Given the description of an element on the screen output the (x, y) to click on. 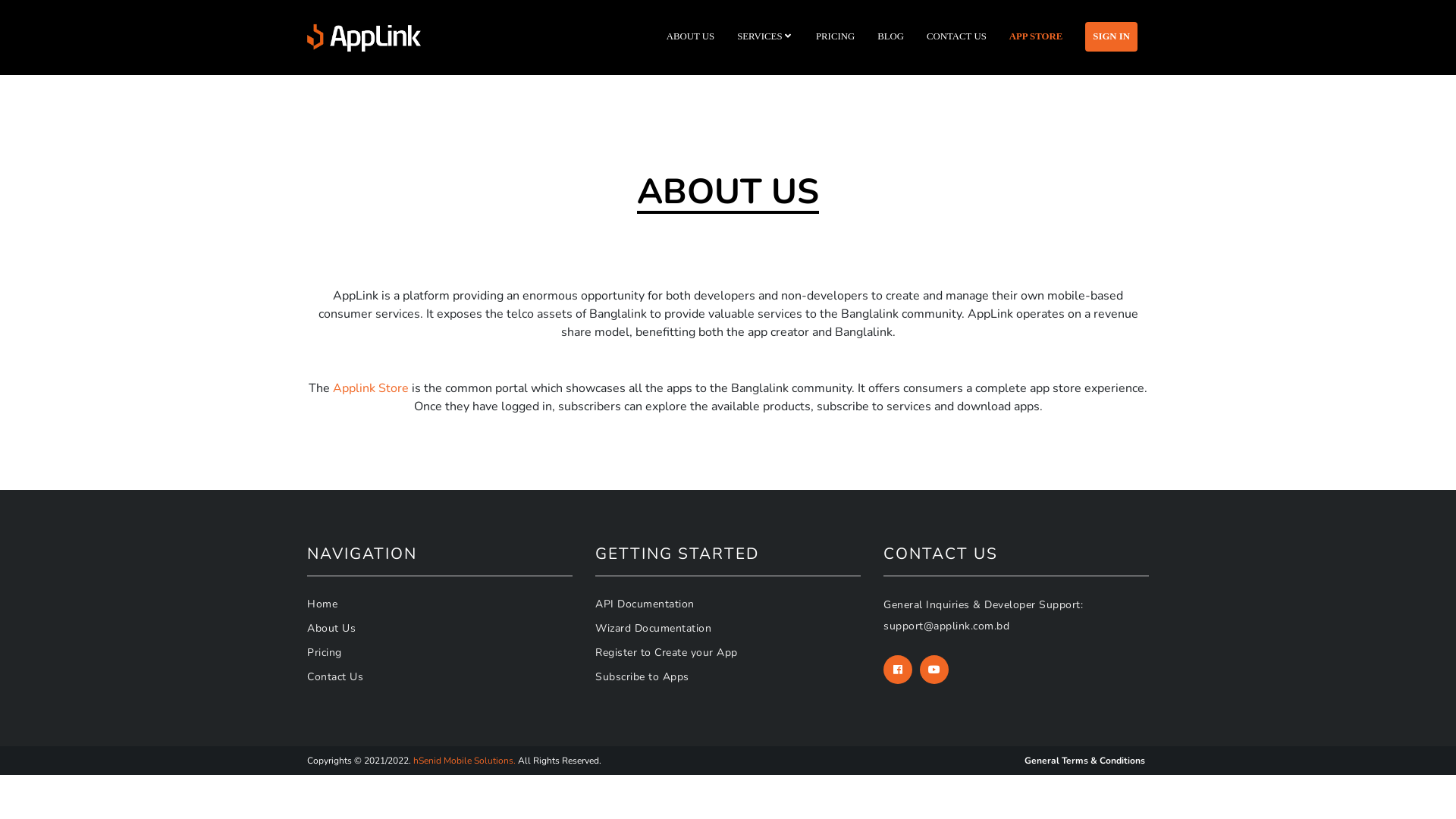
SERVICES Element type: text (765, 36)
Pricing Element type: text (324, 652)
Wizard Documentation Element type: text (653, 628)
Subscribe to Apps Element type: text (642, 676)
ABOUT US Element type: text (690, 36)
General Terms & Conditions Element type: text (1084, 760)
Home Element type: text (322, 603)
BLOG Element type: text (890, 36)
APP STORE Element type: text (1036, 36)
API Documentation Element type: text (644, 603)
Applink Store Element type: text (370, 387)
hSenid Mobile Solutions. Element type: text (464, 760)
About Us Element type: text (331, 628)
Register to Create your App Element type: text (666, 652)
CONTACT US Element type: text (956, 36)
SIGN IN Element type: text (1111, 36)
support@applink.com.bd Element type: text (946, 625)
Contact Us Element type: text (335, 676)
PRICING Element type: text (834, 36)
